Given the description of an element on the screen output the (x, y) to click on. 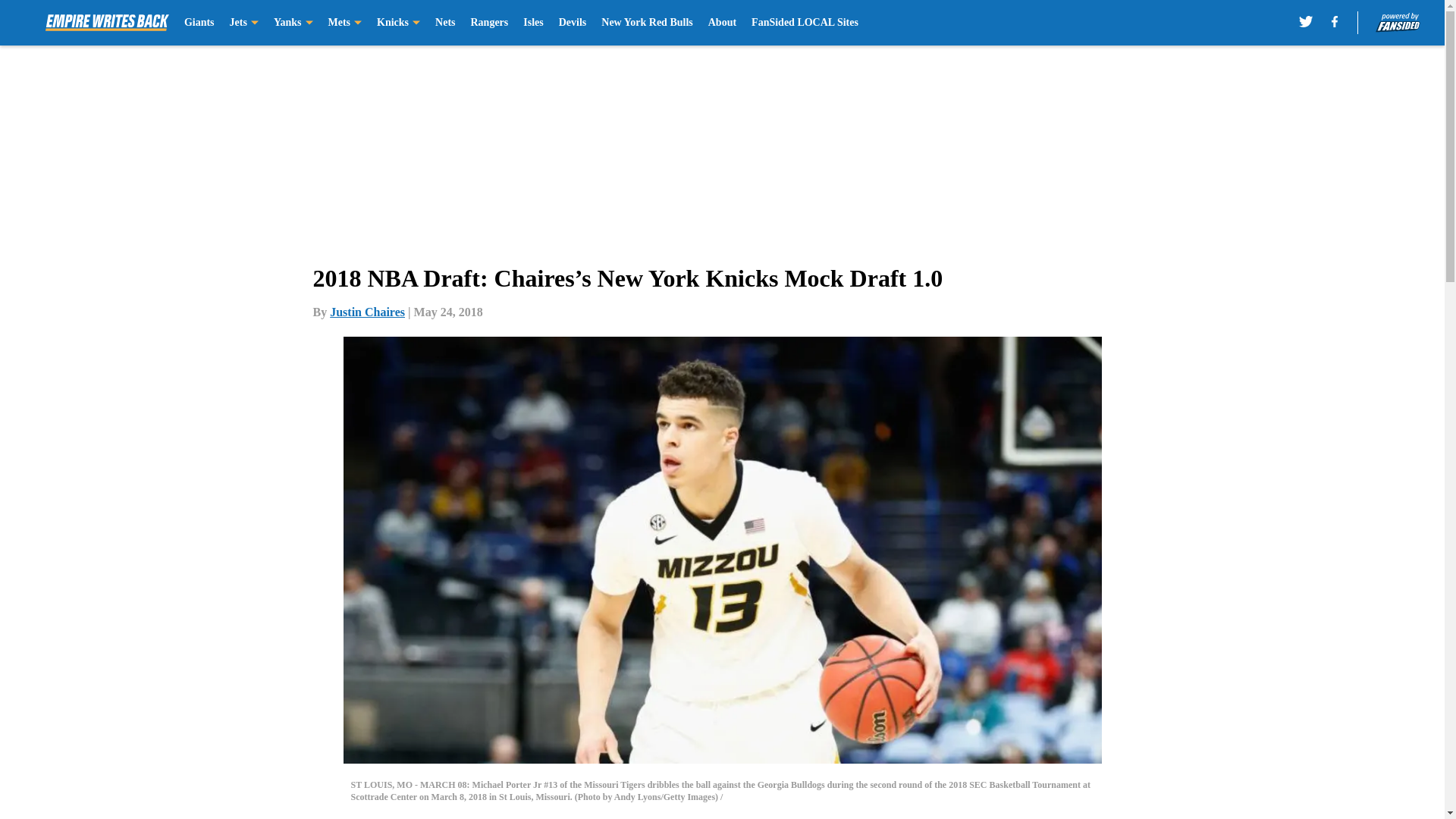
Justin Chaires (367, 311)
FanSided LOCAL Sites (805, 22)
Rangers (489, 22)
Nets (444, 22)
Giants (199, 22)
About (721, 22)
Devils (572, 22)
New York Red Bulls (647, 22)
Isles (532, 22)
